Given the description of an element on the screen output the (x, y) to click on. 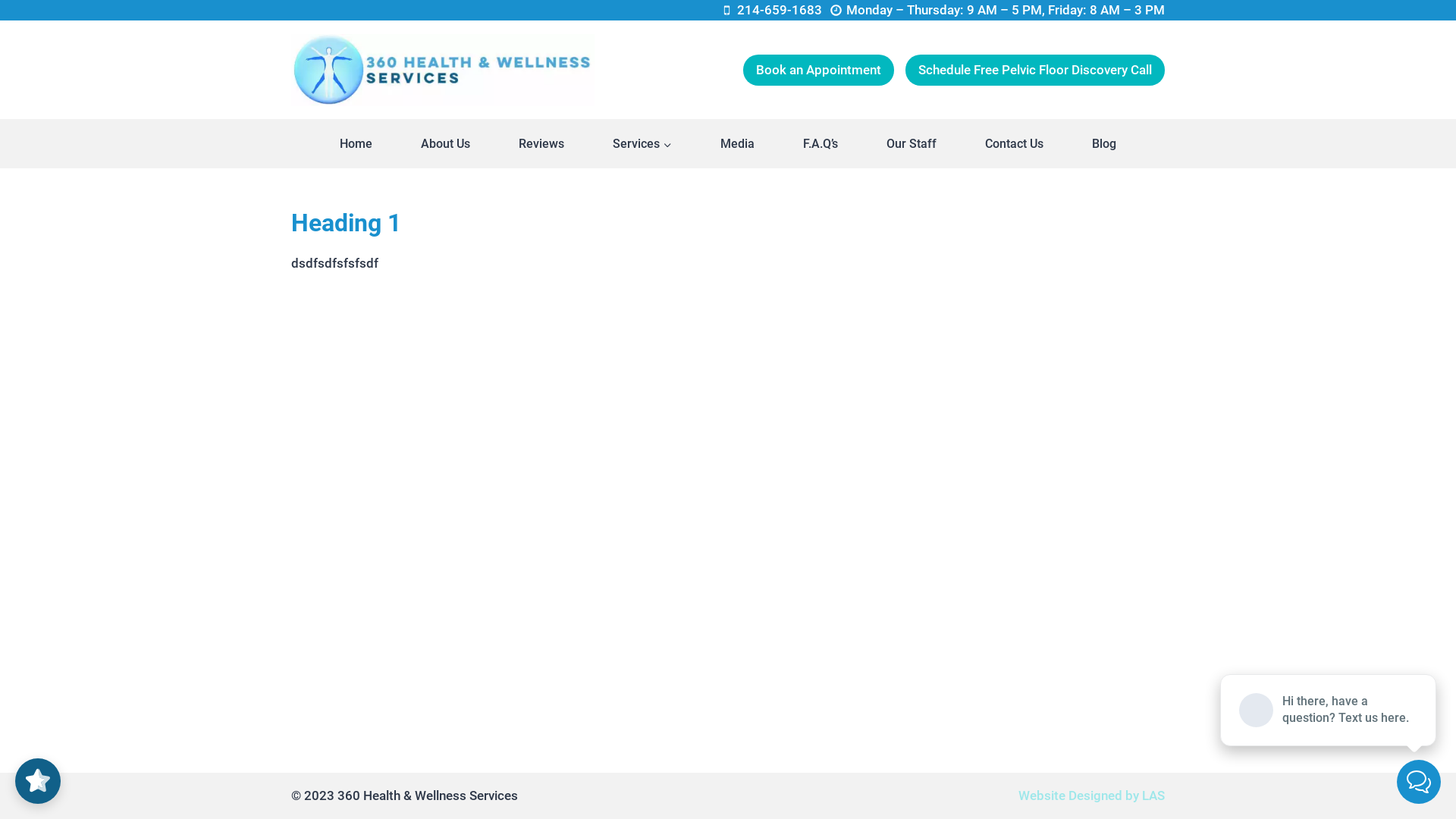
Contact Us Element type: text (1013, 143)
Our Staff Element type: text (911, 143)
Website Designed by LAS Element type: text (1091, 795)
About Us Element type: text (445, 143)
Book an Appointment Element type: text (818, 69)
Services Element type: text (642, 143)
Reviews Element type: text (541, 143)
Media Element type: text (737, 143)
Home Element type: text (355, 143)
Blog Element type: text (1103, 143)
Schedule Free Pelvic Floor Discovery Call Element type: text (1034, 69)
